Given the description of an element on the screen output the (x, y) to click on. 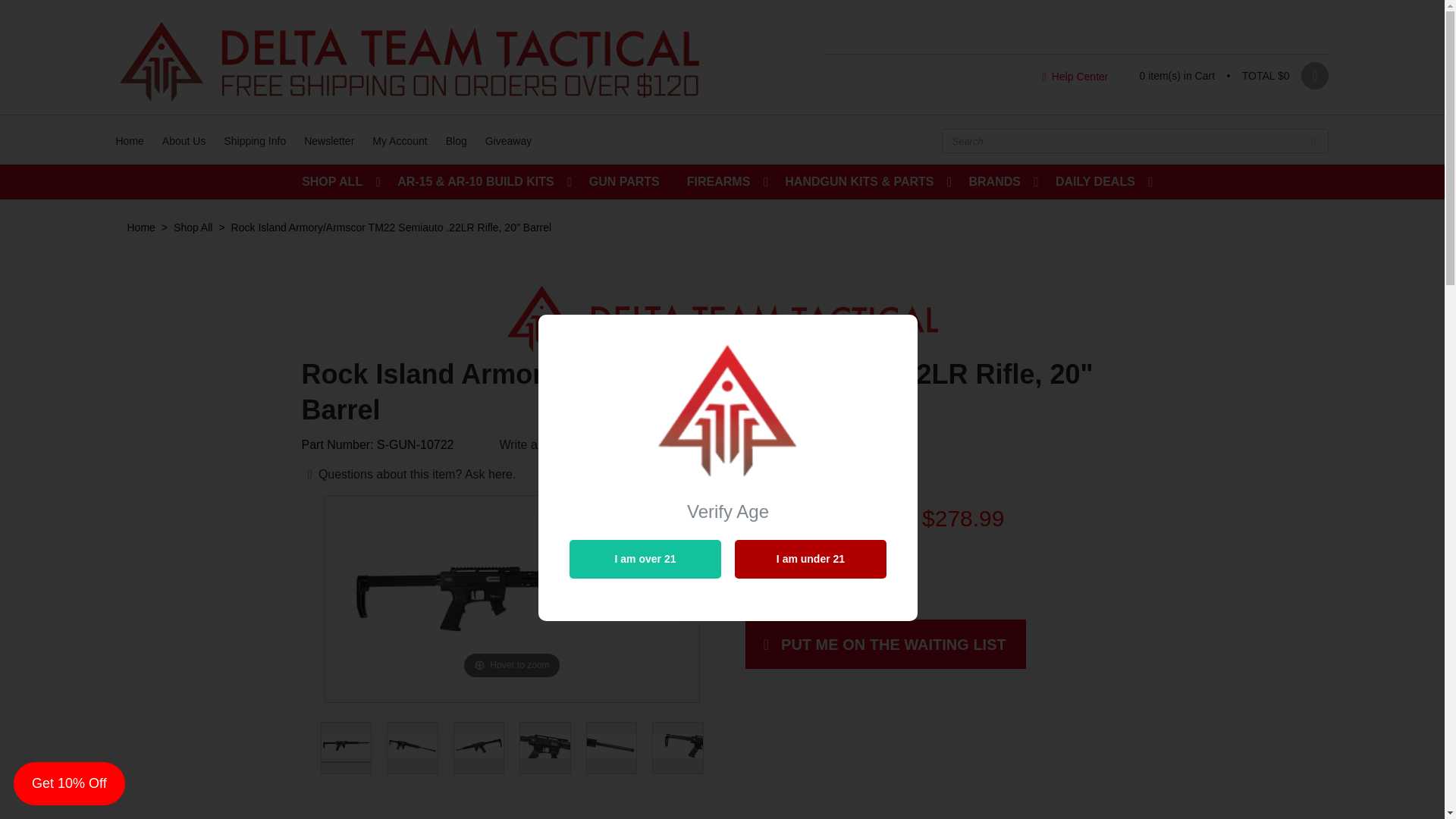
Home (129, 140)
Shipping Info (254, 140)
SEARCH ICO (1312, 140)
Help Center (1071, 76)
SHOP ALL (336, 181)
Giveaway (508, 140)
My Account (398, 140)
Blog (456, 140)
Newsletter (328, 140)
About Us (183, 140)
